Given the description of an element on the screen output the (x, y) to click on. 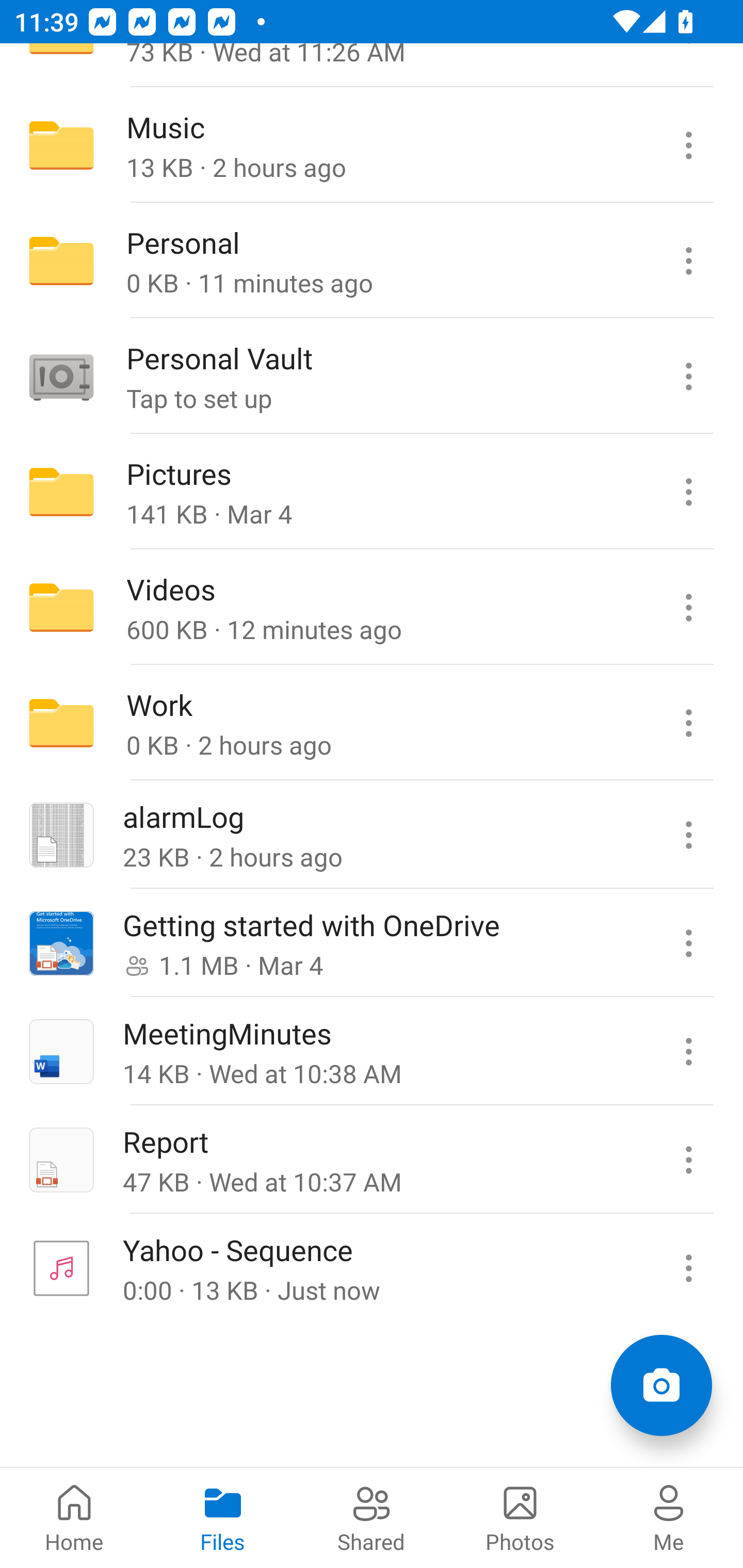
Folder Music 13 KB · 2 hours ago Music commands (371, 145)
Music commands (688, 145)
Personal commands (688, 260)
Personal Vault commands (688, 376)
Folder Pictures 141 KB · Mar 4 Pictures commands (371, 492)
Pictures commands (688, 492)
Videos commands (688, 607)
Folder Work 0 KB · 2 hours ago Work commands (371, 722)
Work commands (688, 722)
alarmLog commands (688, 834)
Getting started with OneDrive commands (688, 943)
MeetingMinutes commands (688, 1051)
Report commands (688, 1159)
Yahoo - Sequence commands (688, 1267)
Add items Scan (660, 1385)
Home pivot Home (74, 1517)
Shared pivot Shared (371, 1517)
Photos pivot Photos (519, 1517)
Me pivot Me (668, 1517)
